Given the description of an element on the screen output the (x, y) to click on. 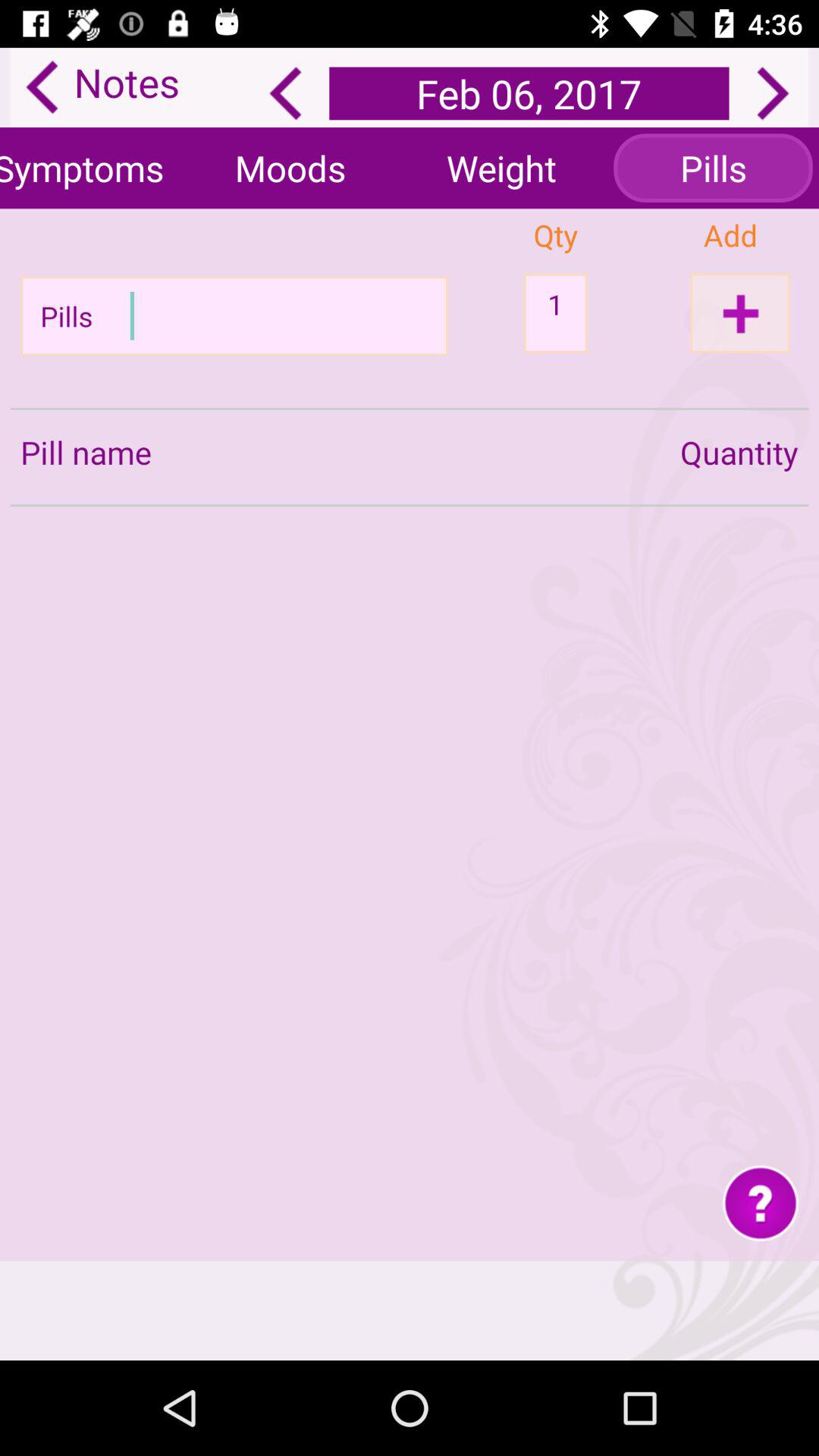
shows question mark icon (760, 1202)
